Given the description of an element on the screen output the (x, y) to click on. 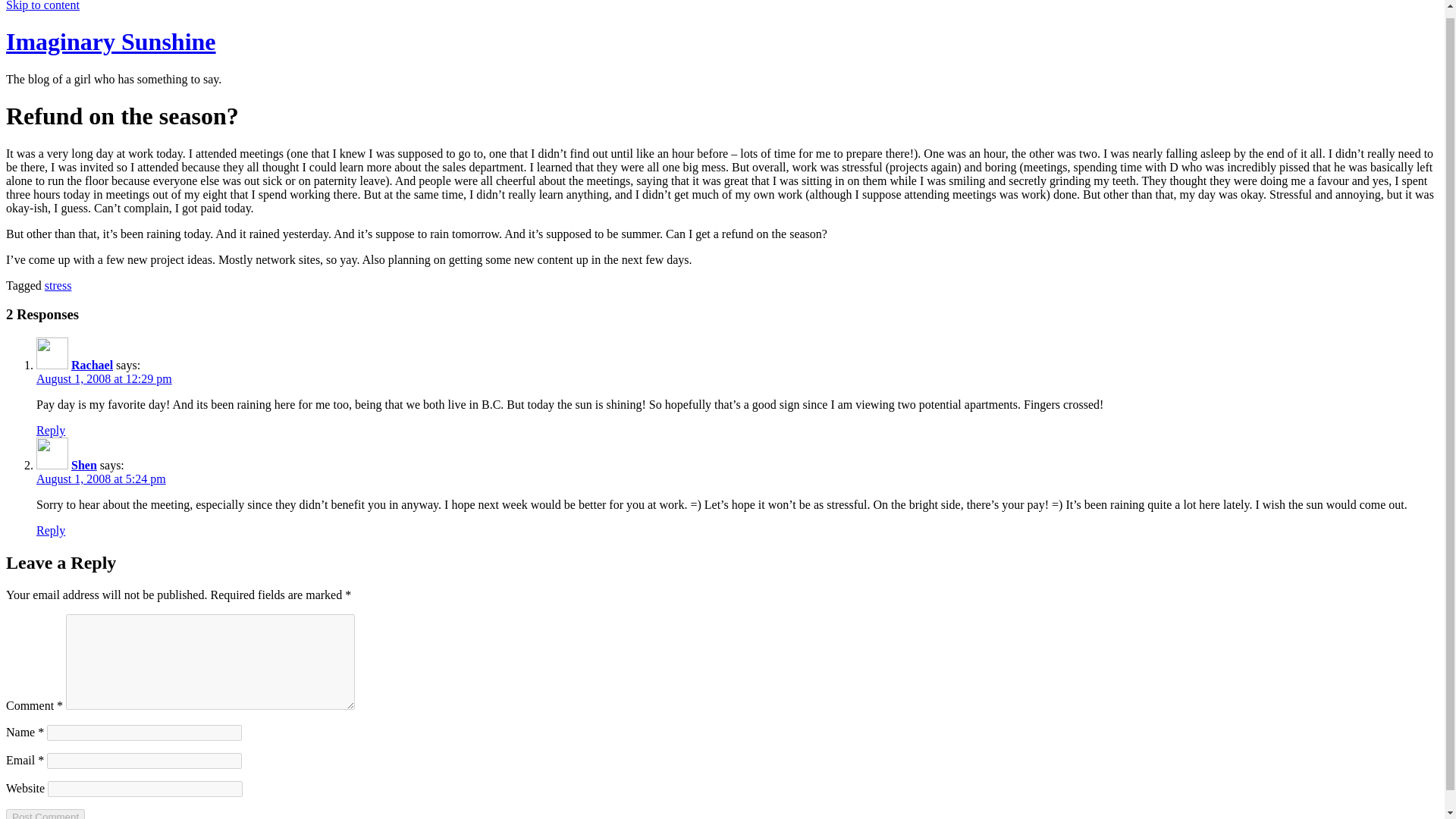
August 1, 2008 at 5:24 pm (100, 478)
Reply (50, 530)
Rachael (92, 364)
Skip to content (42, 5)
Home (110, 41)
Imaginary Sunshine (110, 41)
stress (58, 285)
August 1, 2008 at 12:29 pm (103, 378)
Reply (50, 430)
Shen (84, 464)
